Given the description of an element on the screen output the (x, y) to click on. 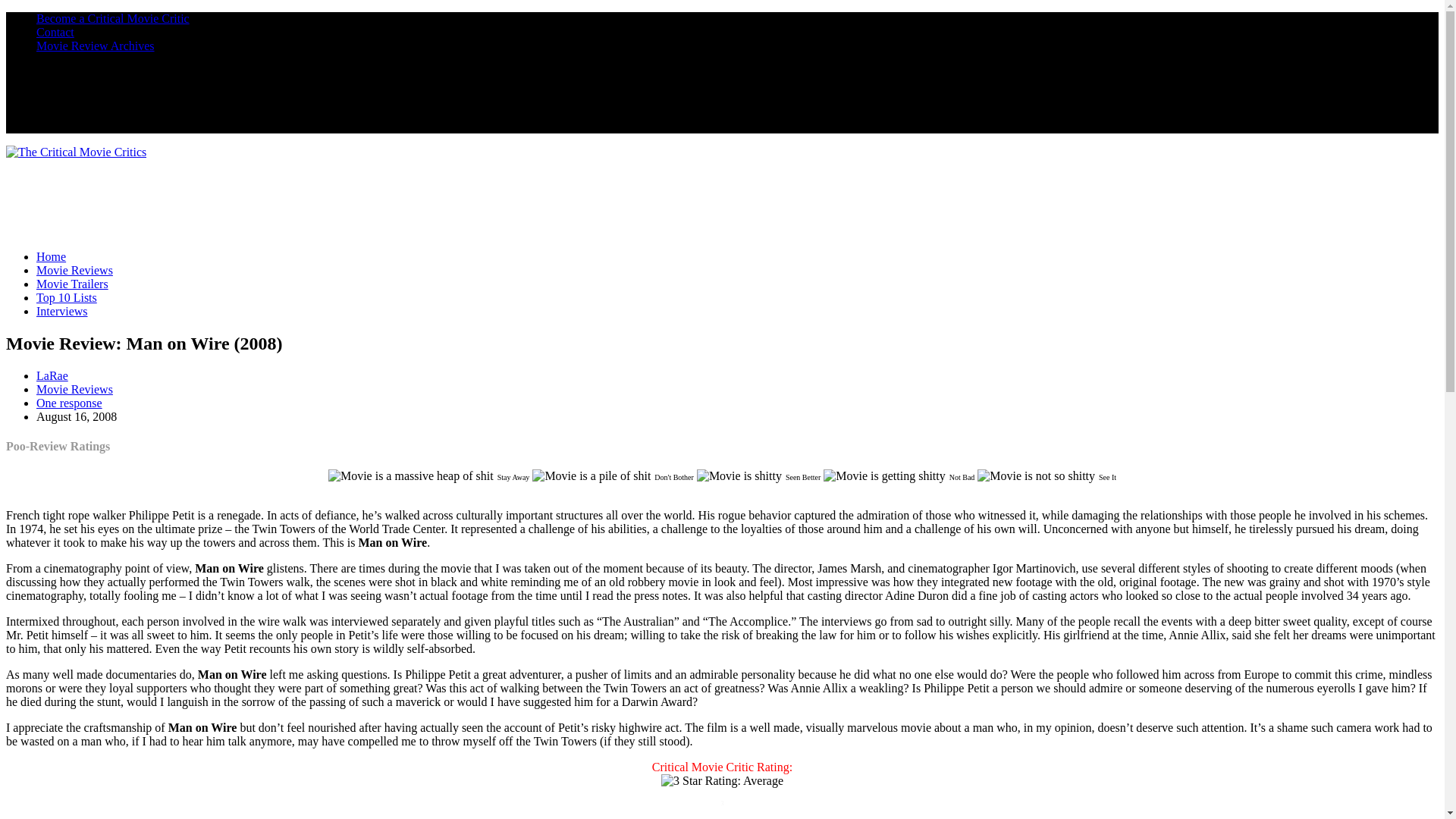
Contact (55, 31)
Movie Trailers (71, 283)
LaRae (52, 375)
Latest Top 10 Lists (66, 297)
Become a Critical Movie Critic (112, 18)
Join The Critical Movie Critics (112, 18)
Latest Media Interviews (61, 310)
Movie Review Archives (95, 45)
One response (68, 402)
Contact The Critical Movie Critics (55, 31)
